Given the description of an element on the screen output the (x, y) to click on. 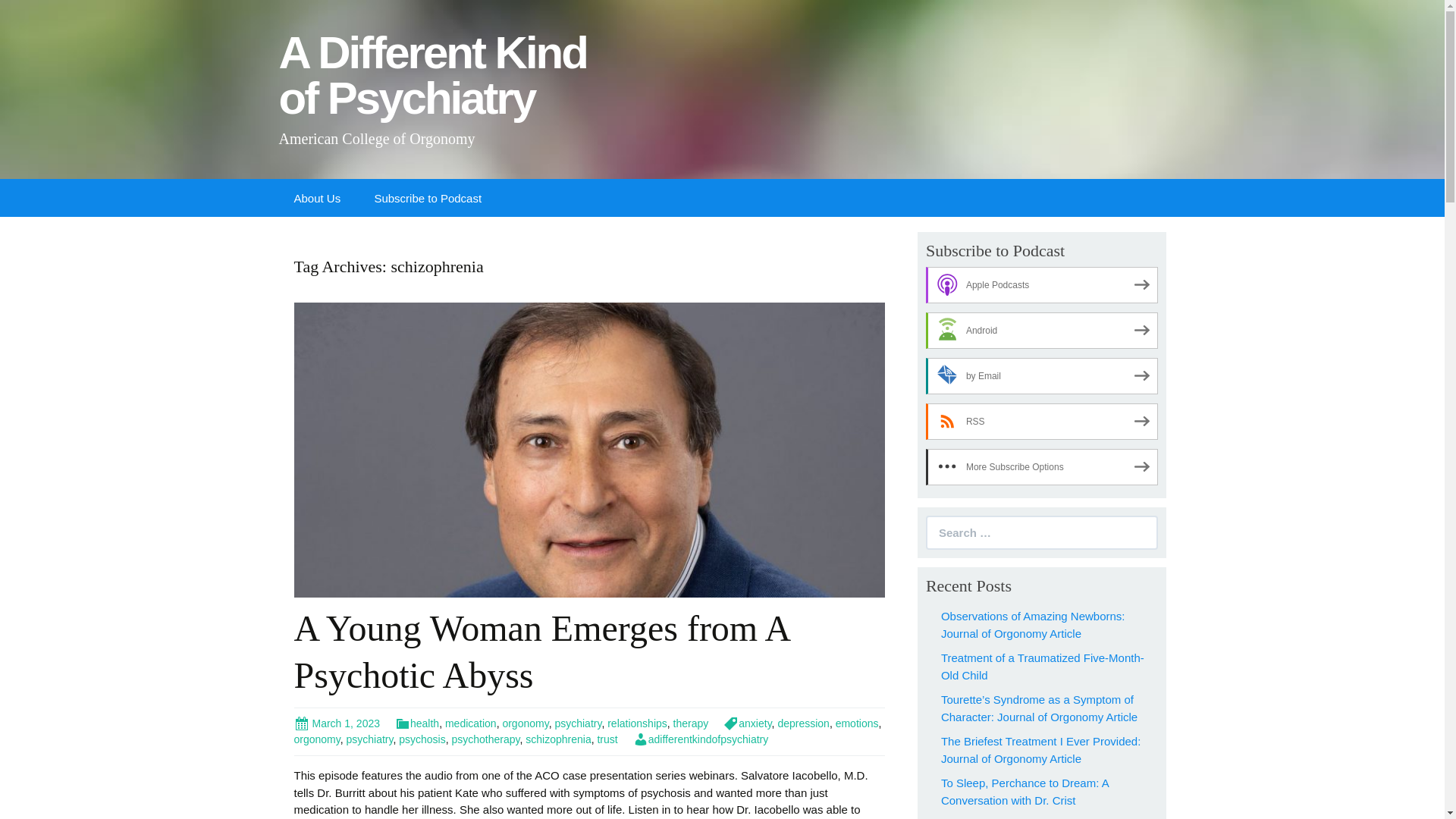
medication (470, 723)
schizophrenia (558, 739)
orgonomy (317, 739)
orgonomy (525, 723)
A Different Kind of Psychiatry (435, 81)
psychiatry (577, 723)
therapy (690, 723)
emotions (857, 723)
Permalink to A Young Woman Emerges from A Psychotic Abyss (337, 723)
health (416, 723)
